Given the description of an element on the screen output the (x, y) to click on. 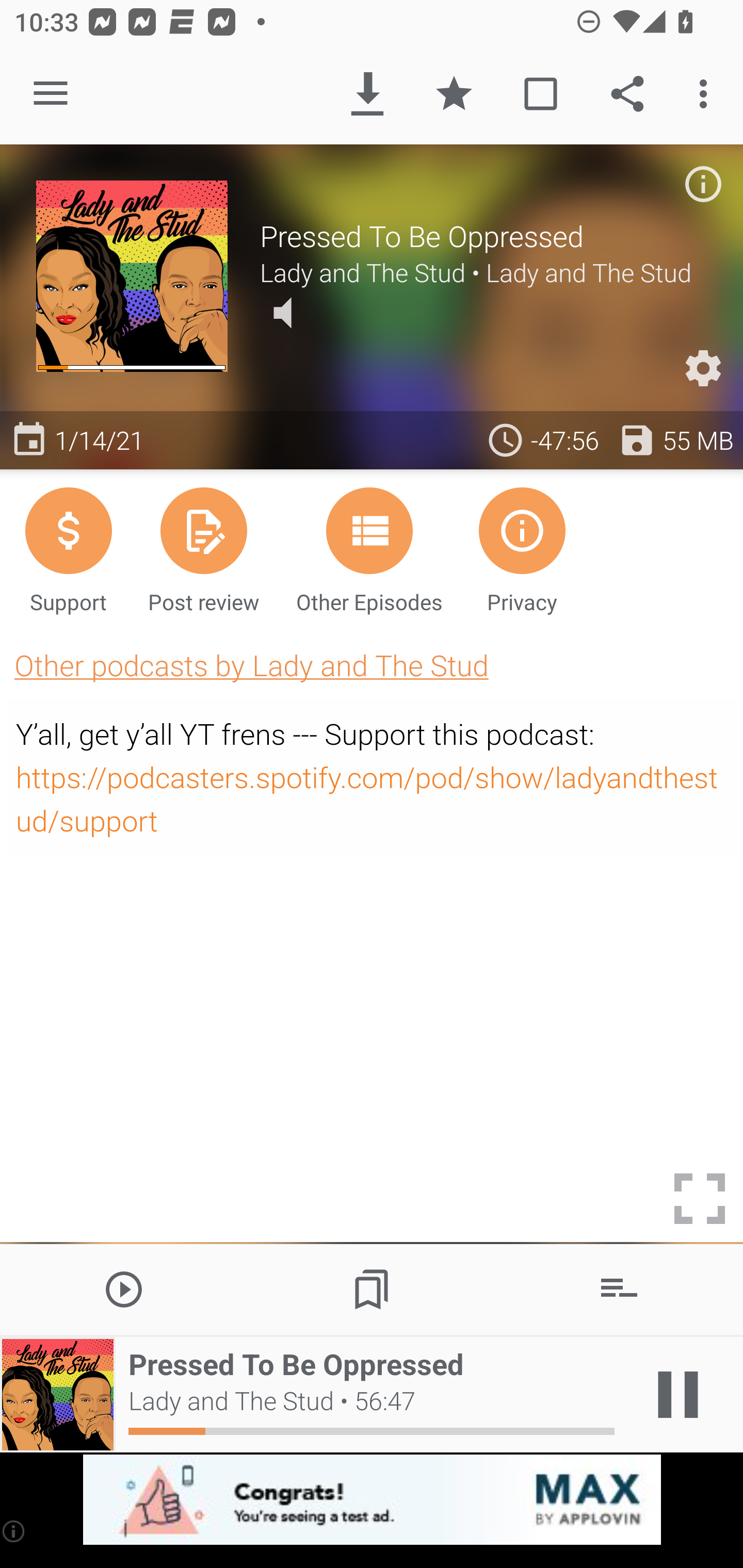
Open navigation sidebar (50, 93)
Download (366, 93)
UnFavorite (453, 93)
Mark played / unplayed (540, 93)
Share (626, 93)
More options (706, 93)
Podcast description (703, 184)
Pressed To Be Oppressed (483, 235)
Custom Settings (703, 368)
Support (68, 549)
Post review (203, 549)
Other Episodes (368, 549)
Privacy (521, 549)
Other podcasts by Lady and The Stud (251, 665)
Toggle full screen mode (699, 1198)
Play (123, 1288)
Chapters / Bookmarks (371, 1288)
Remove from Playlist (619, 1288)
Play / Pause (677, 1394)
app-monetization (371, 1500)
(i) (14, 1531)
